Given the description of an element on the screen output the (x, y) to click on. 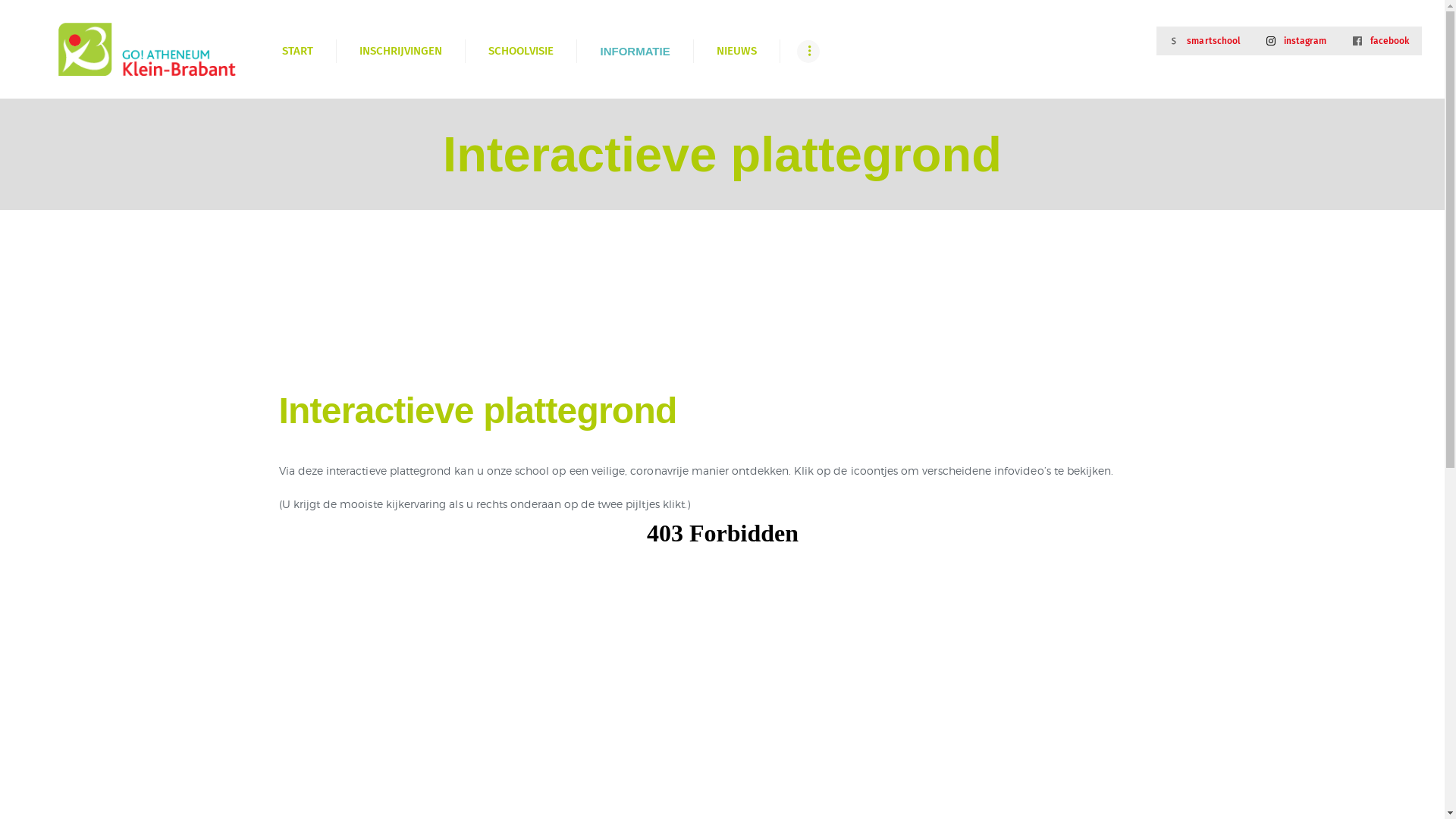
NIEUWS Element type: text (736, 50)
INSCHRIJVINGEN Element type: text (399, 50)
INFORMATIE Element type: text (634, 50)
instagram Element type: text (1296, 40)
smartschool Element type: text (1204, 40)
SCHOOLVISIE Element type: text (520, 50)
START Element type: text (297, 50)
facebook Element type: text (1380, 40)
